Given the description of an element on the screen output the (x, y) to click on. 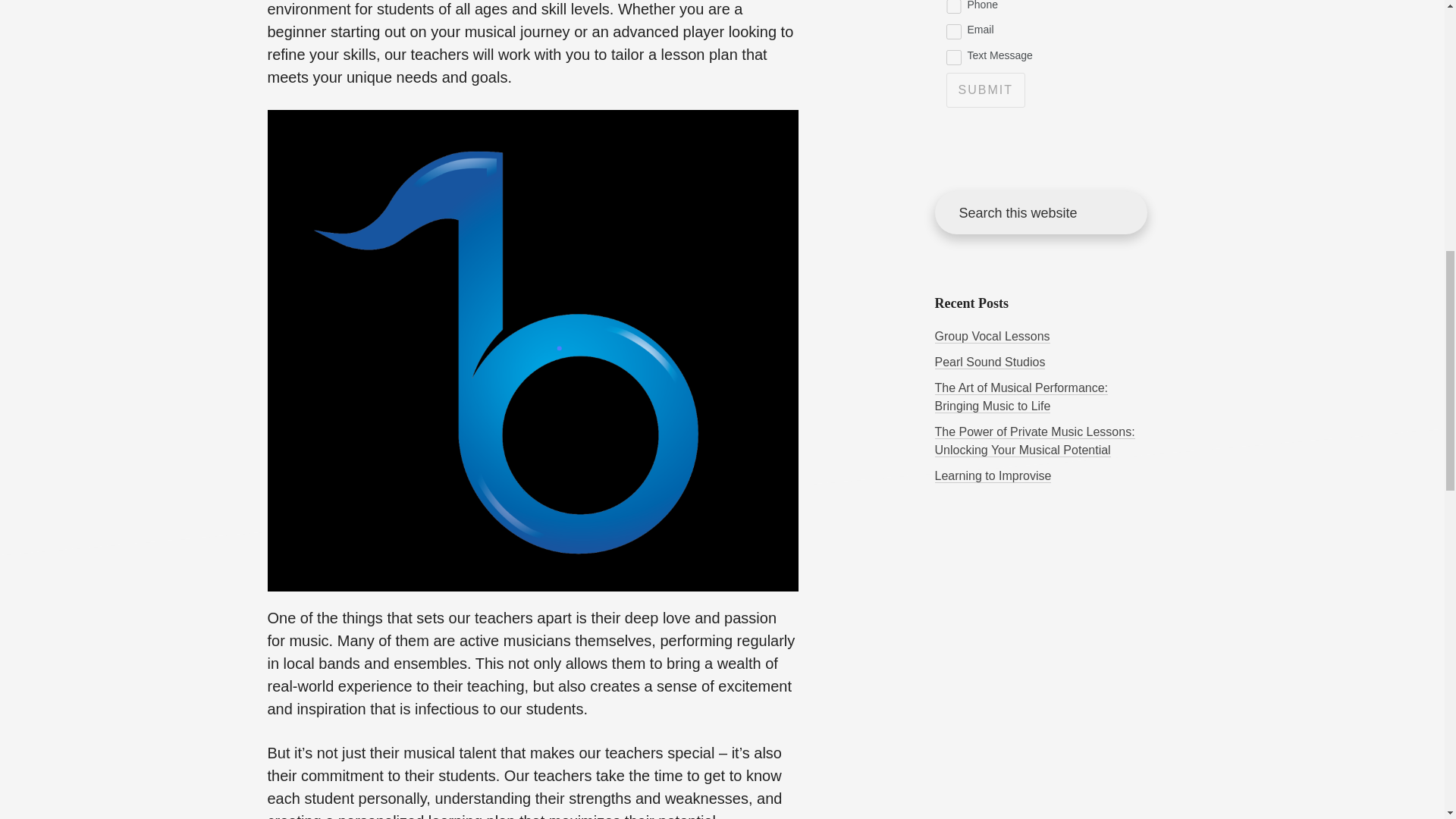
Email (953, 31)
Phone (953, 7)
Text Message (953, 57)
